Given the description of an element on the screen output the (x, y) to click on. 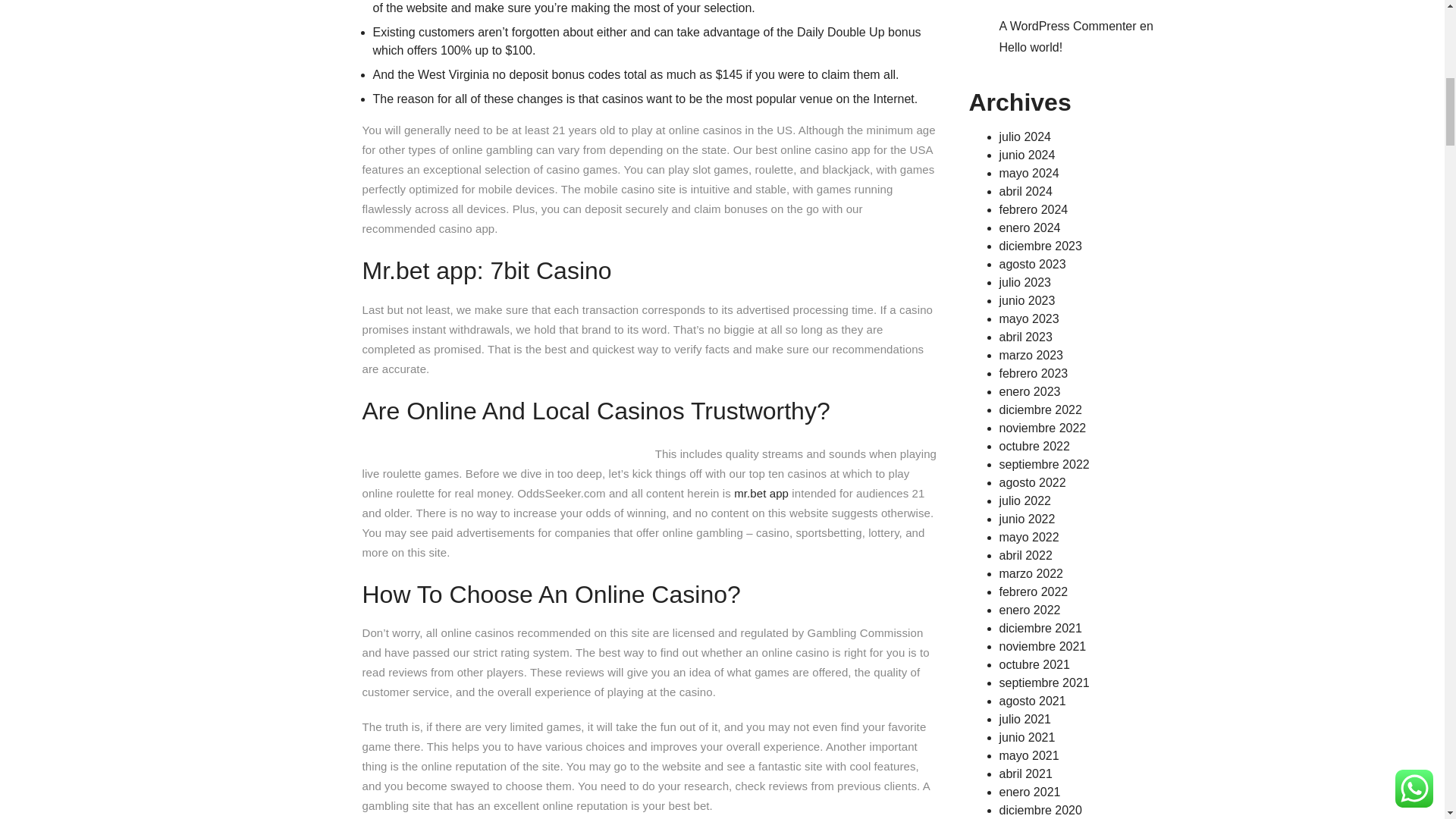
mr.bet app (761, 492)
